Given the description of an element on the screen output the (x, y) to click on. 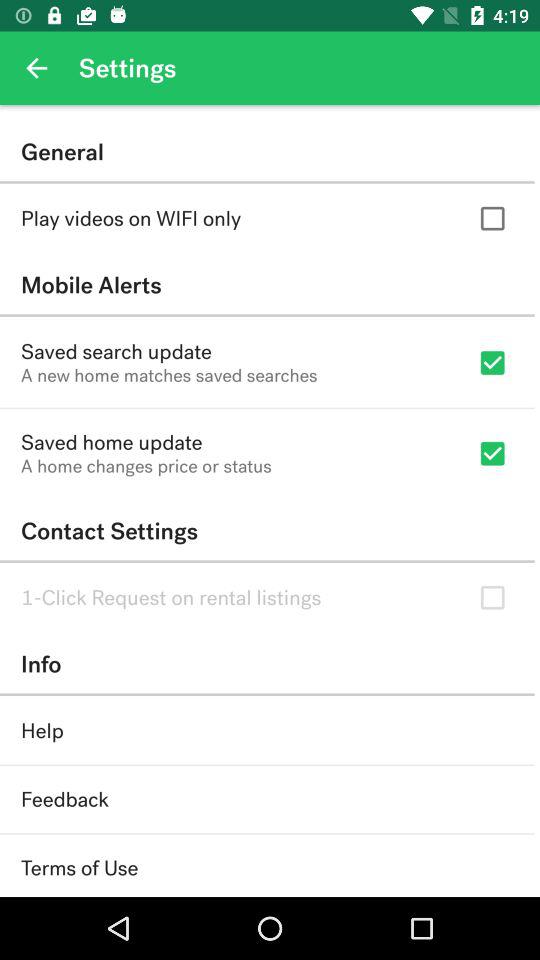
launch the item above the general item (36, 68)
